Given the description of an element on the screen output the (x, y) to click on. 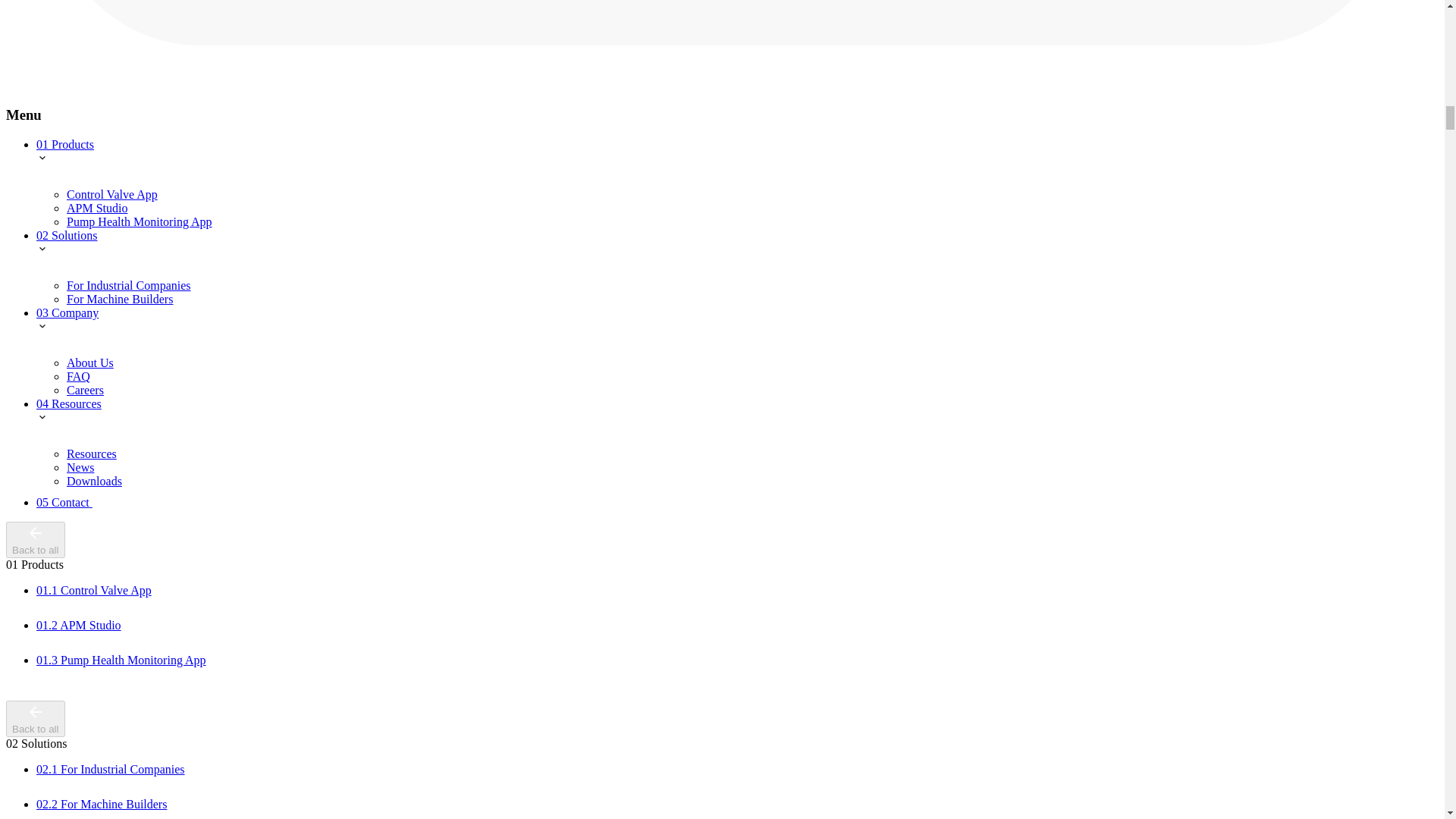
News (80, 467)
About Us (89, 362)
For Industrial Companies (128, 285)
05 Contact (73, 502)
APM Studio (97, 207)
Pump Health Monitoring App (139, 221)
Control Valve App (111, 194)
Resources (91, 453)
FAQ (78, 376)
Downloads (94, 481)
Back to all (35, 719)
Back to all (35, 539)
Careers (84, 390)
For Machine Builders (119, 298)
